Given the description of an element on the screen output the (x, y) to click on. 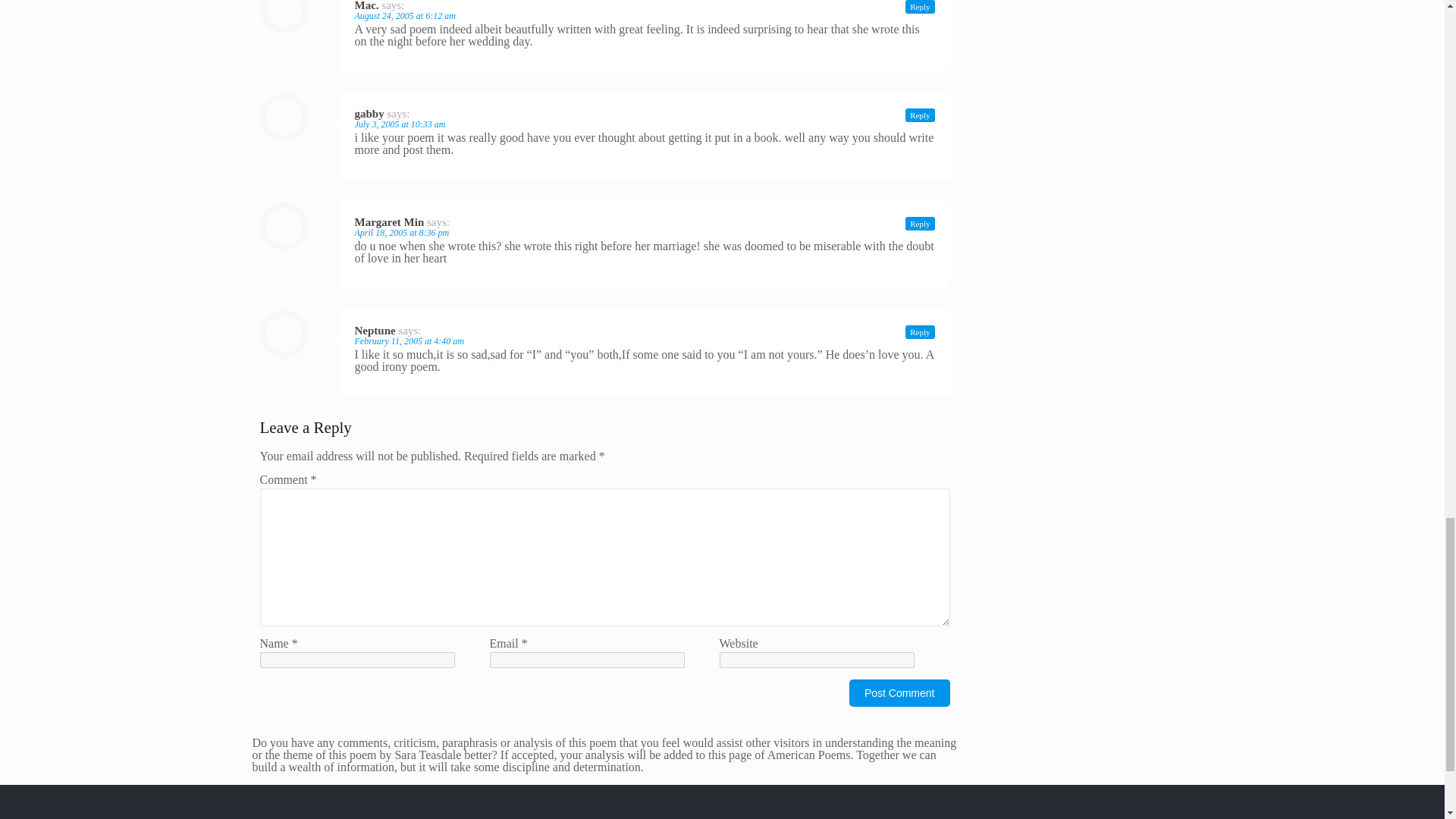
Reply (919, 332)
Post Comment (899, 692)
Post Comment (899, 692)
July 3, 2005 at 10:33 am (400, 123)
April 18, 2005 at 8:36 pm (402, 232)
Reply (919, 223)
February 11, 2005 at 4:40 am (409, 340)
Go to Sara Teasdale. (680, 818)
Reply (919, 115)
August 24, 2005 at 6:12 am (405, 15)
Reply (919, 6)
